Given the description of an element on the screen output the (x, y) to click on. 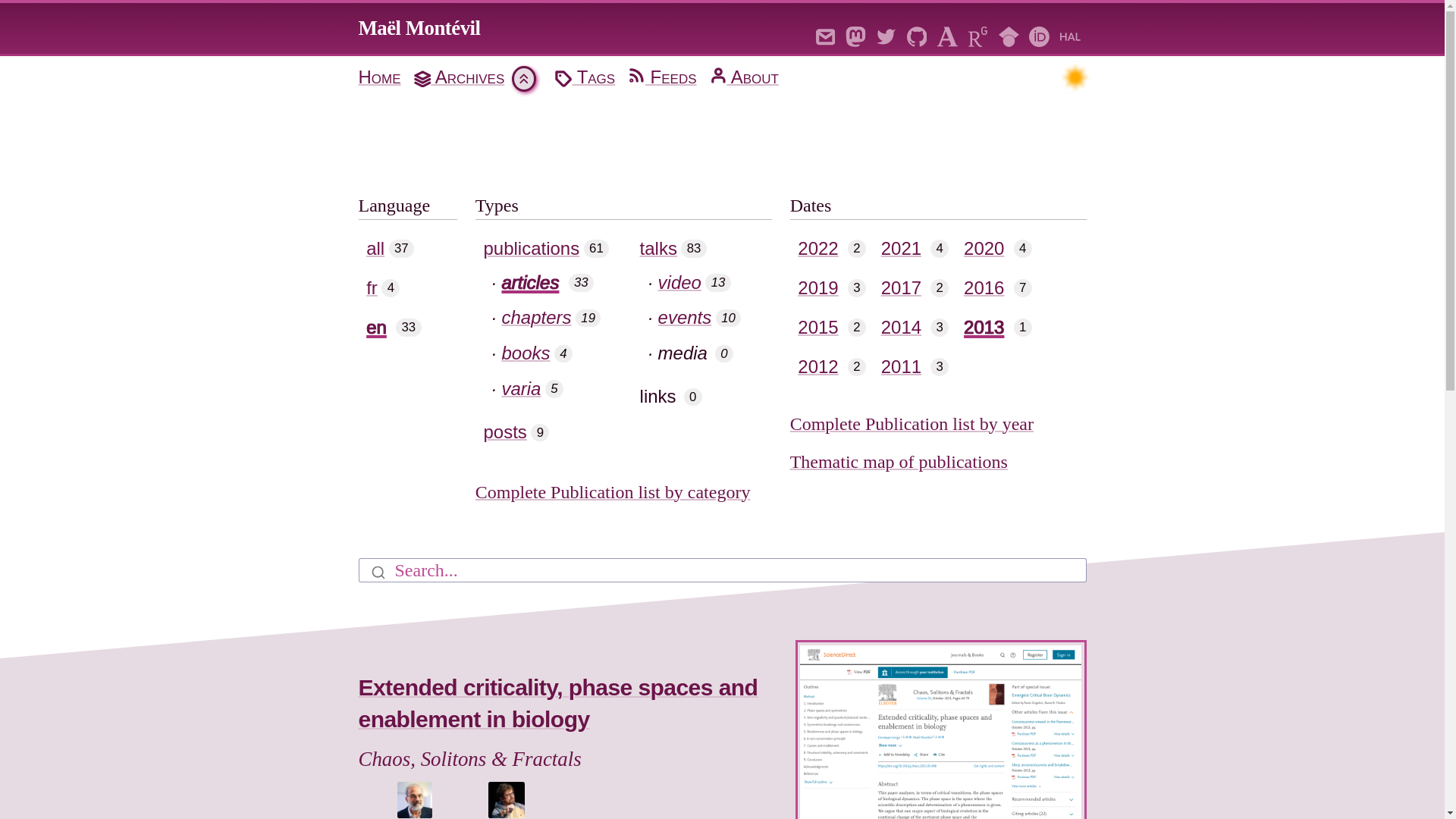
Link to my GitHub profile (917, 34)
Link to my Researchgate profile (977, 34)
Archives (458, 76)
Link to my HAL profile (1070, 34)
on (1076, 78)
Link to my Academia profile (947, 34)
Link to my Twitter profile (885, 34)
Homepage (418, 27)
night mode (1072, 76)
Link to my Mastodon profile (856, 34)
Link to my Orcid profile (1039, 34)
Submit (376, 570)
Link to my google scholar profile (1008, 34)
Home (380, 76)
